Given the description of an element on the screen output the (x, y) to click on. 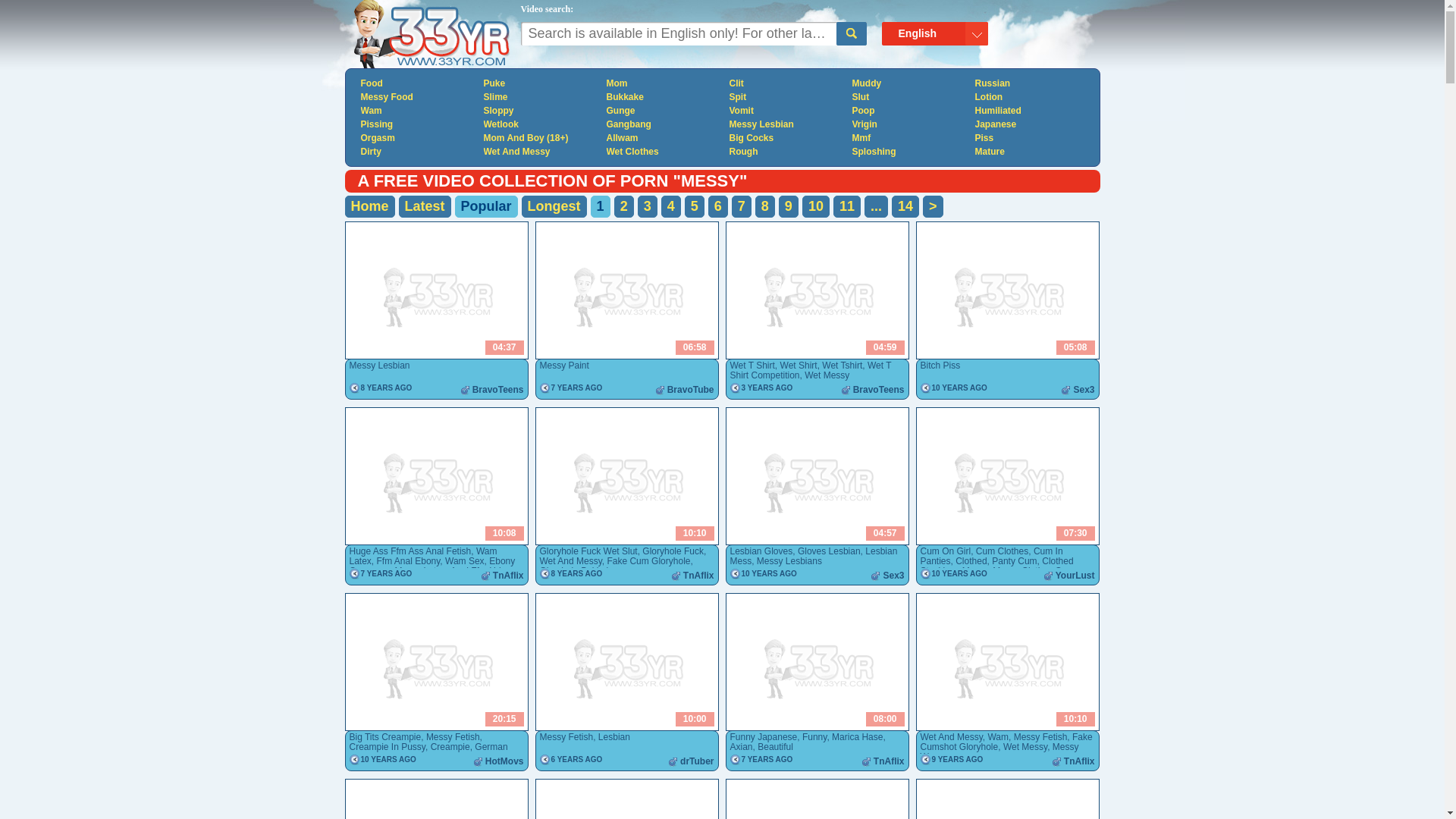
Big Cocks Element type: text (784, 137)
Clothed Element type: text (970, 560)
Dirty Element type: text (416, 151)
Mom Element type: text (662, 83)
Funny Element type: text (814, 736)
Axian Element type: text (740, 746)
Messy Food Element type: text (416, 96)
3 Element type: text (647, 206)
Marica Hase Element type: text (856, 736)
11 Element type: text (846, 206)
Slut Element type: text (907, 96)
... Element type: text (876, 206)
8 Element type: text (765, 206)
Wet Messy Element type: text (826, 375)
Panty Cum Element type: text (1013, 560)
German Element type: text (490, 746)
Spit Element type: text (784, 96)
Longest Element type: text (553, 206)
TnAflix Element type: text (888, 761)
TnAflix Element type: text (508, 575)
YourLust Element type: text (1075, 575)
Wet T Shirt Competition Element type: text (810, 370)
Muddy Element type: text (907, 83)
Messy Fetish Element type: text (453, 736)
Sploshing Element type: text (907, 151)
English Element type: text (934, 33)
Gloryhole Fuck Wet Slut Element type: text (588, 551)
Rough Element type: text (784, 151)
Ebony Cumswap Element type: text (431, 565)
Cum Clothes Element type: text (1001, 551)
BravoTeens Element type: text (878, 389)
TnAflix Element type: text (698, 575)
Vrigin Element type: text (907, 124)
Lesbian Element type: text (614, 736)
Funny Japanese Element type: text (763, 736)
Gloryhole Bukkake Element type: text (577, 570)
Beautiful Element type: text (775, 746)
HotMovs Element type: text (504, 761)
Mature Element type: text (1030, 151)
Mom And Boy (18+) Element type: text (539, 137)
Orgasm Element type: text (416, 137)
Russian Element type: text (1030, 83)
Wet Messy Element type: text (1025, 746)
Lesbian Mess Element type: text (813, 556)
Wet T Shirt Element type: text (751, 365)
Gloryhole Fuck Element type: text (672, 551)
Cum On Girl Element type: text (945, 551)
Wet And Messy Element type: text (539, 151)
> Element type: text (932, 206)
6 Element type: text (718, 206)
9 Element type: text (788, 206)
Allwam Element type: text (662, 137)
Wet And Messy Element type: text (570, 560)
Messy Paint Element type: text (564, 365)
BravoTeens Element type: text (498, 389)
Gangbang Element type: text (662, 124)
Japanese Element type: text (1030, 124)
Sloppy Element type: text (539, 110)
Messy Fetish Element type: text (1040, 736)
Creampie In Pussy Element type: text (386, 746)
Home Element type: text (369, 206)
Messy Lesbian Element type: text (784, 124)
Wet Shirt Element type: text (798, 365)
Wetlook Element type: text (539, 124)
Clit Element type: text (784, 83)
Gloves Lesbian Element type: text (828, 551)
Bukkake Element type: text (662, 96)
Poop Element type: text (907, 110)
Popular Element type: text (486, 206)
Creampie Element type: text (450, 746)
Search Element type: hover (850, 33)
Vomit Element type: text (784, 110)
Wet And Messy Element type: text (951, 736)
Wam Element type: text (997, 736)
Latest Element type: text (424, 206)
Messy Fetish Element type: text (566, 736)
Sex3 Element type: text (1083, 389)
Sex3 Element type: text (892, 575)
10 Element type: text (815, 206)
TnAflix Element type: text (1079, 761)
Pissing Element type: text (416, 124)
5 Element type: text (694, 206)
Wet Clothes Element type: text (662, 151)
Gunge Element type: text (662, 110)
Wam Sex Element type: text (464, 560)
Humiliated Element type: text (1030, 110)
Slime Element type: text (539, 96)
BravoTube Element type: text (690, 389)
Food Element type: text (416, 83)
Wam Element type: text (416, 110)
Cum In Panties Element type: text (991, 556)
Fake Cum Gloryhole Element type: text (648, 560)
Ffm Anal Ebony Element type: text (408, 560)
Puke Element type: text (539, 83)
Bitch Piss Element type: text (940, 365)
Messy Lesbians Element type: text (789, 560)
4 Element type: text (670, 206)
2 Element type: text (623, 206)
7 Element type: text (741, 206)
Fake Cumshot Gloryhole Element type: text (1006, 741)
Messy Lesbian Element type: text (378, 365)
Piss Element type: text (1030, 137)
1 Element type: text (600, 206)
Huge Ass Ffm Ass Anal Fetish Element type: text (409, 551)
14 Element type: text (905, 206)
Wam Latex Element type: text (422, 556)
Big Tits Creampie Element type: text (384, 736)
Lesbian Gloves Element type: text (760, 551)
drTuber Element type: text (696, 761)
Lotion Element type: text (1030, 96)
Wet Tshirt Element type: text (842, 365)
Mmf Element type: text (907, 137)
